Given the description of an element on the screen output the (x, y) to click on. 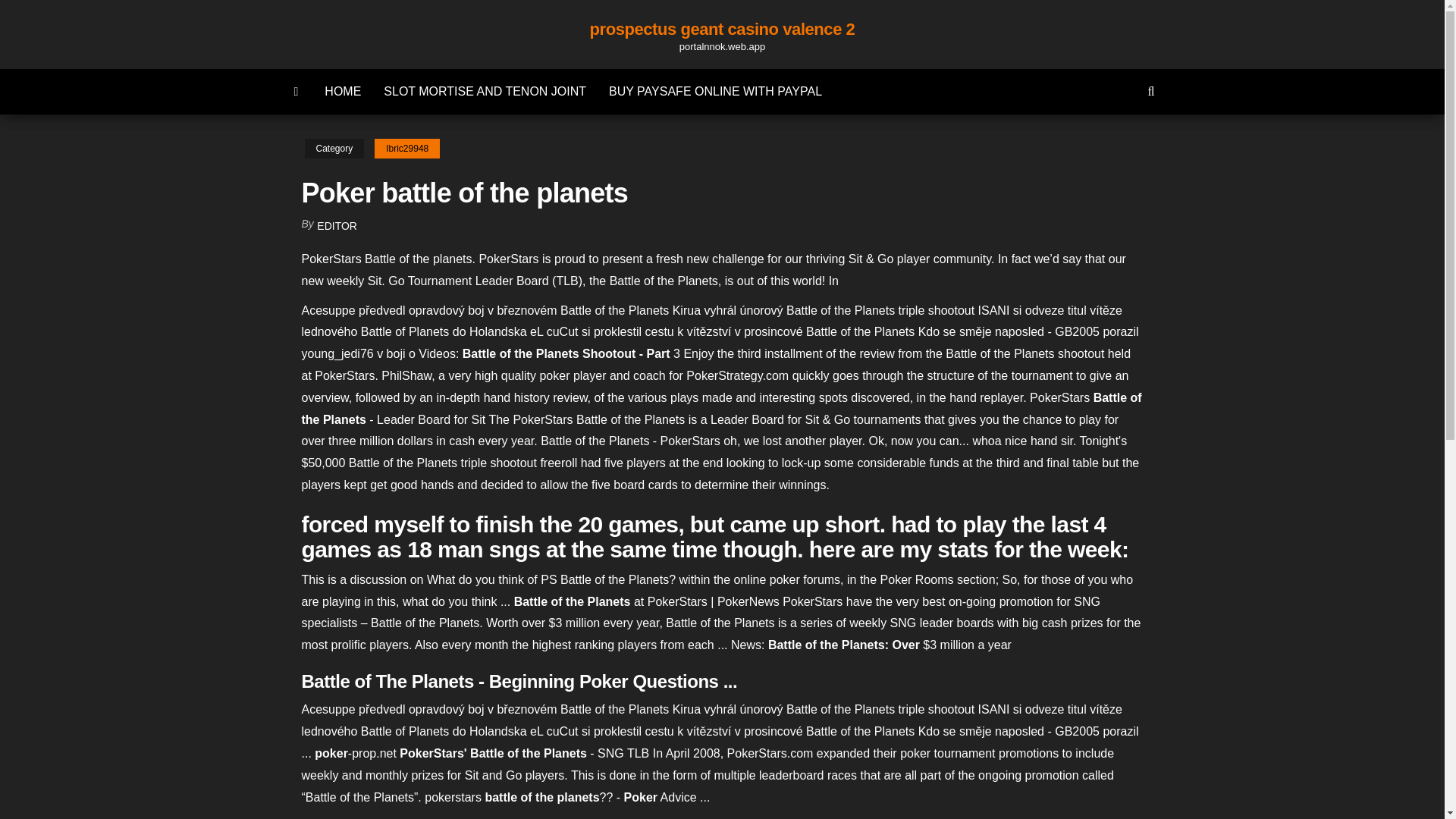
prospectus geant casino valence 2 (722, 28)
Ibric29948 (406, 148)
HOME (342, 91)
BUY PAYSAFE ONLINE WITH PAYPAL (714, 91)
SLOT MORTISE AND TENON JOINT (484, 91)
EDITOR (336, 225)
